Given the description of an element on the screen output the (x, y) to click on. 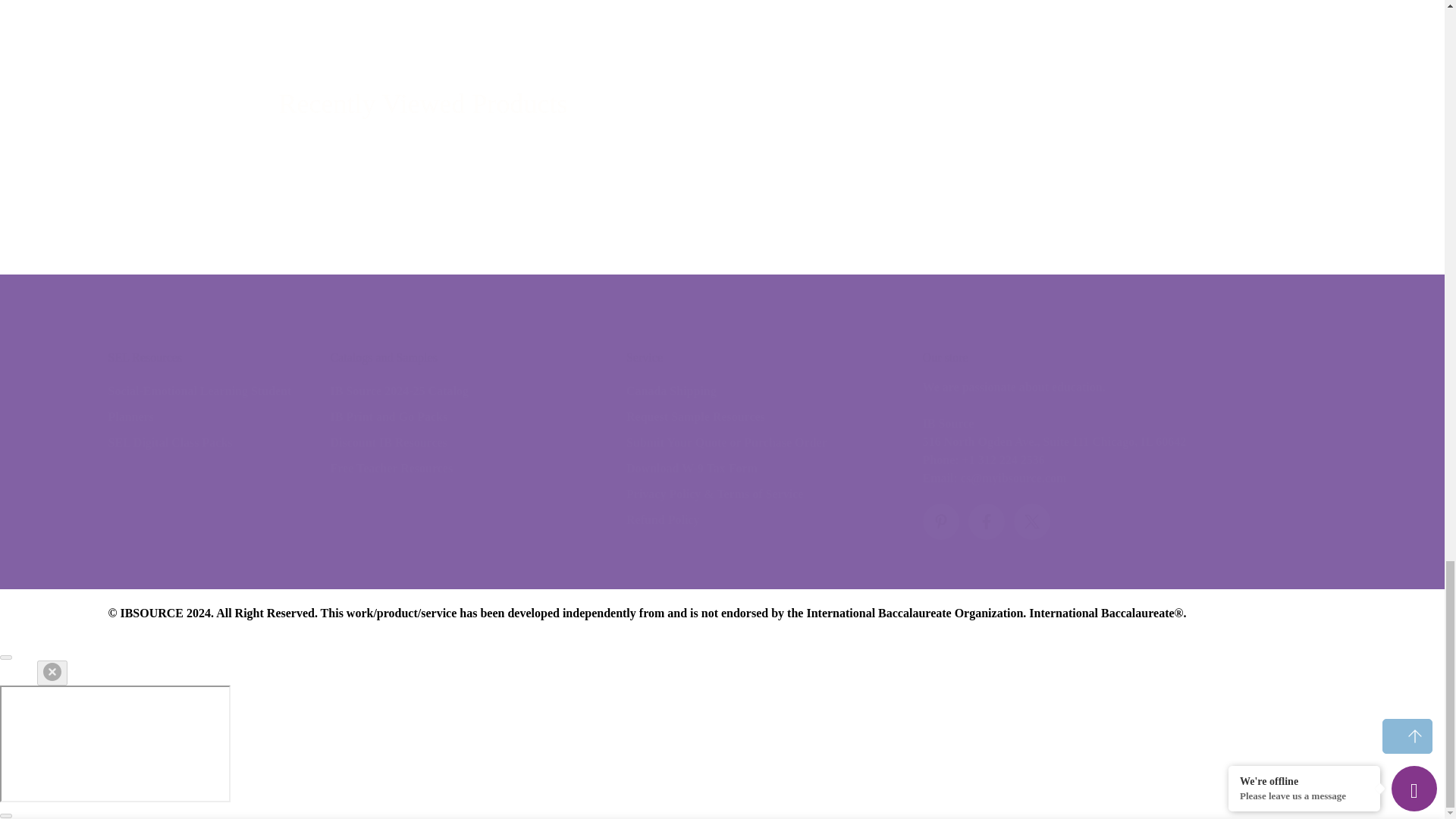
Recently Viewed Products (722, 104)
